Given the description of an element on the screen output the (x, y) to click on. 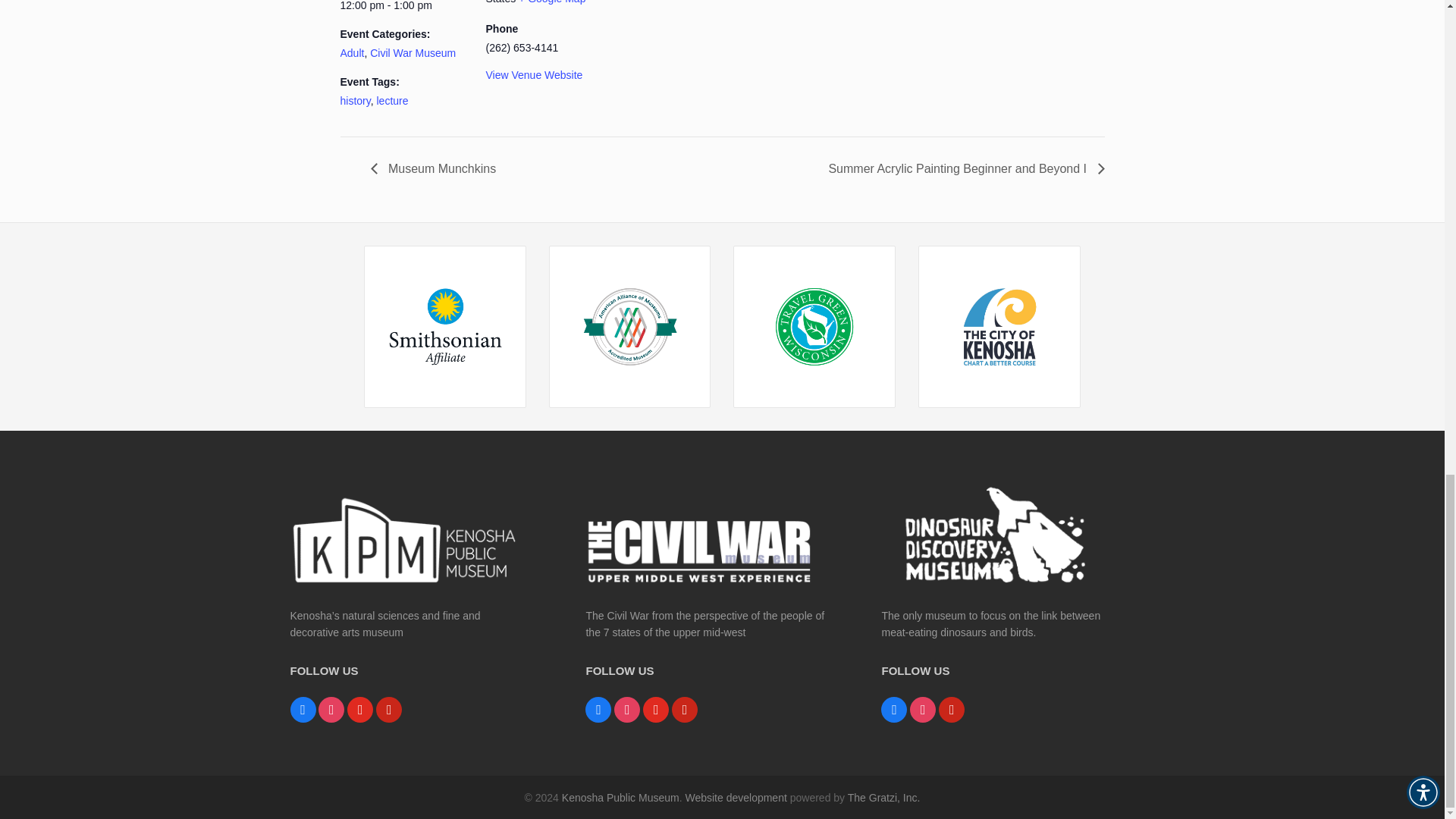
2023-06-09 (403, 6)
Click to view a Google Map (551, 2)
